Given the description of an element on the screen output the (x, y) to click on. 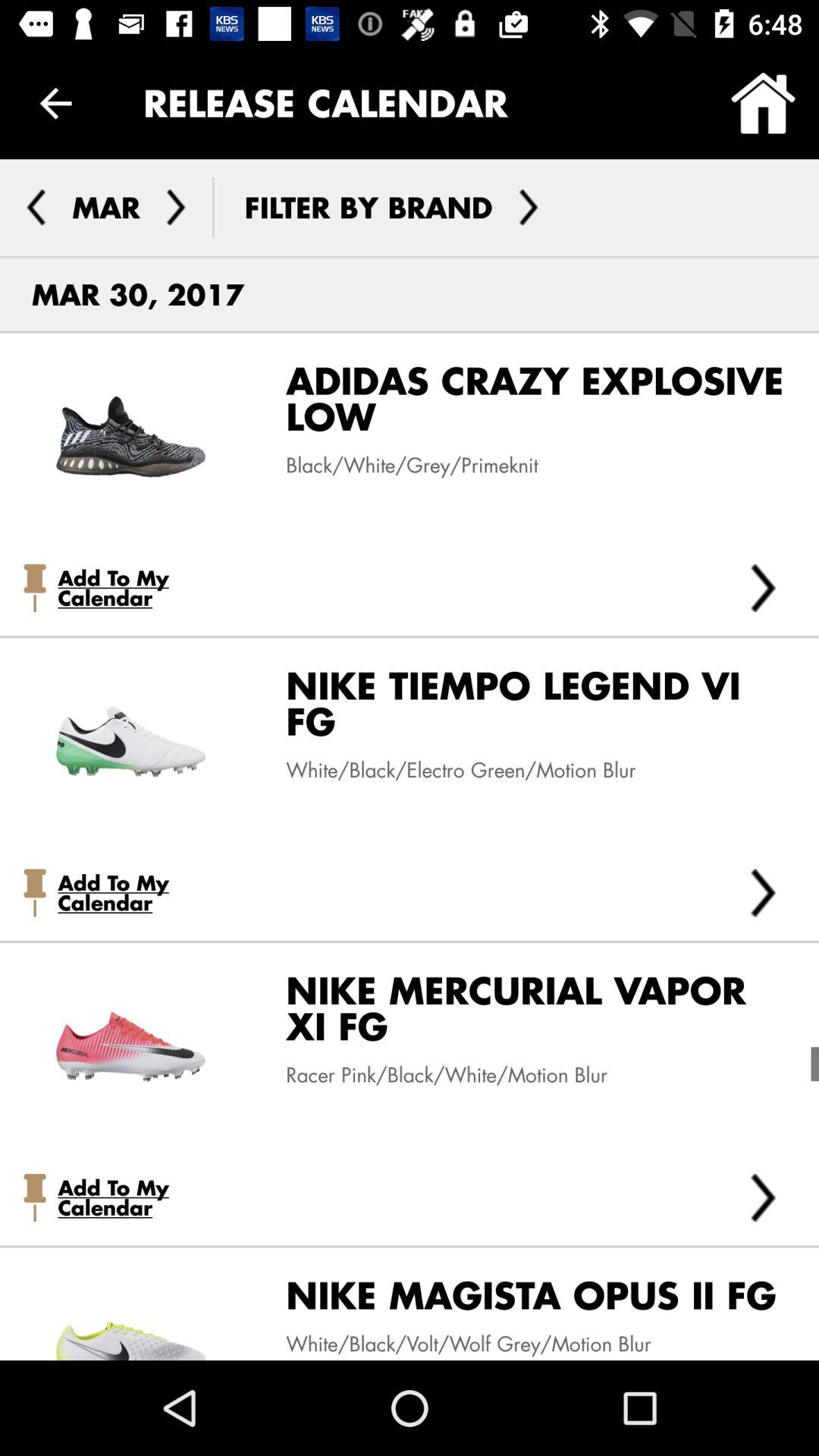
select the item above nike magista opus (763, 1197)
